Given the description of an element on the screen output the (x, y) to click on. 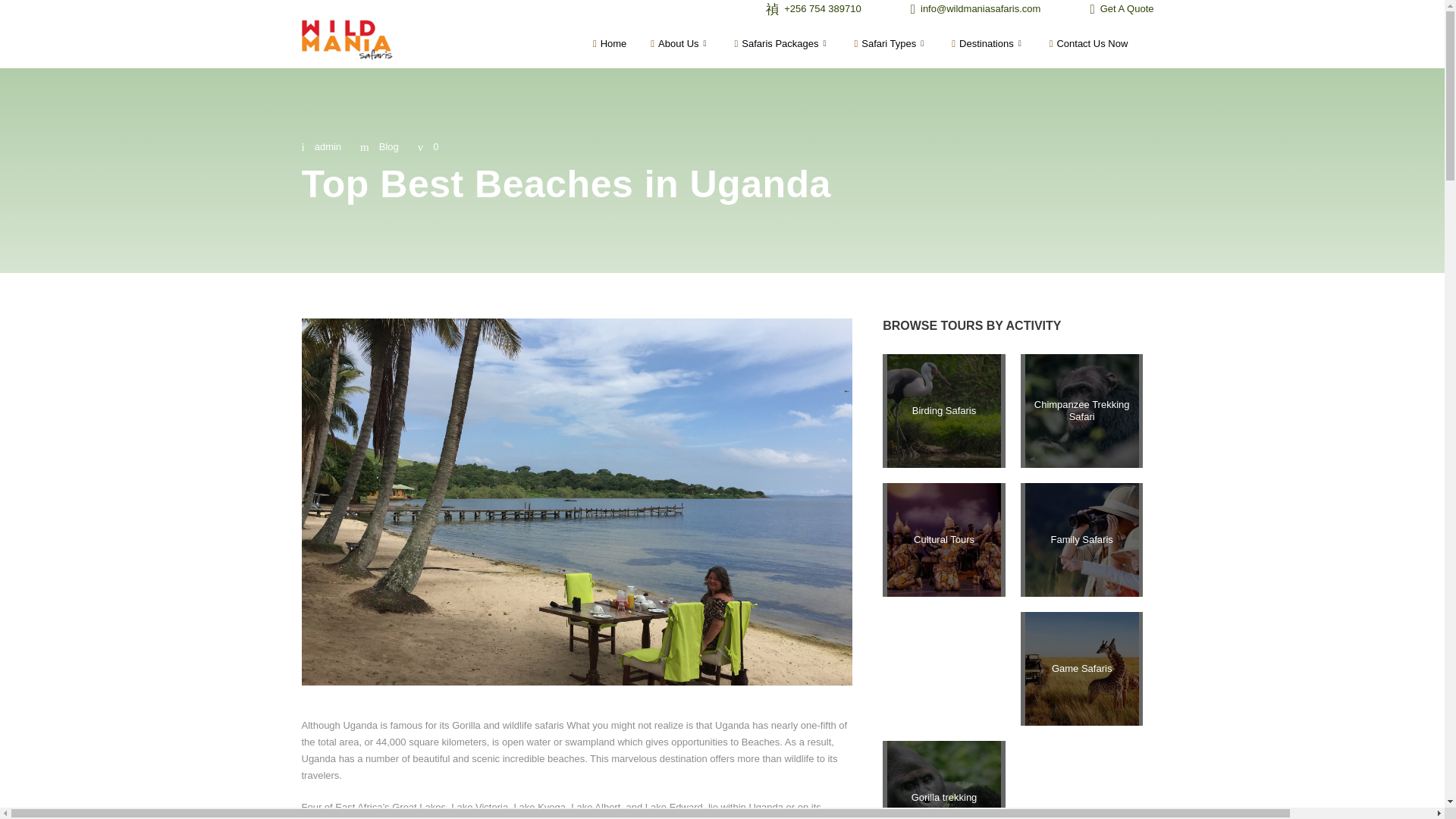
About Us (681, 43)
Get A Quote (1115, 8)
Posts by admin (327, 146)
Destinations (990, 43)
Home (611, 43)
Safari Types (893, 43)
Safaris Packages (784, 43)
